Given the description of an element on the screen output the (x, y) to click on. 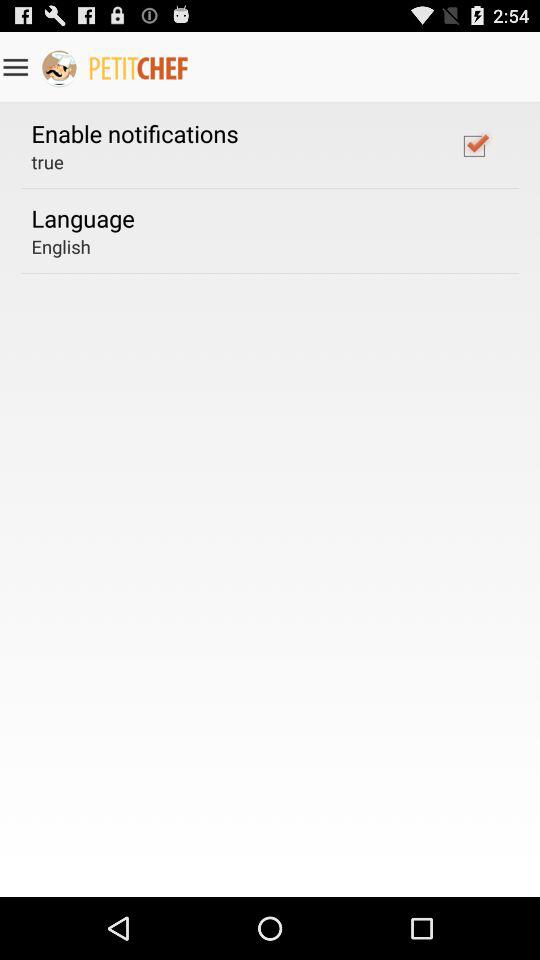
turn on the app below enable notifications app (47, 161)
